Given the description of an element on the screen output the (x, y) to click on. 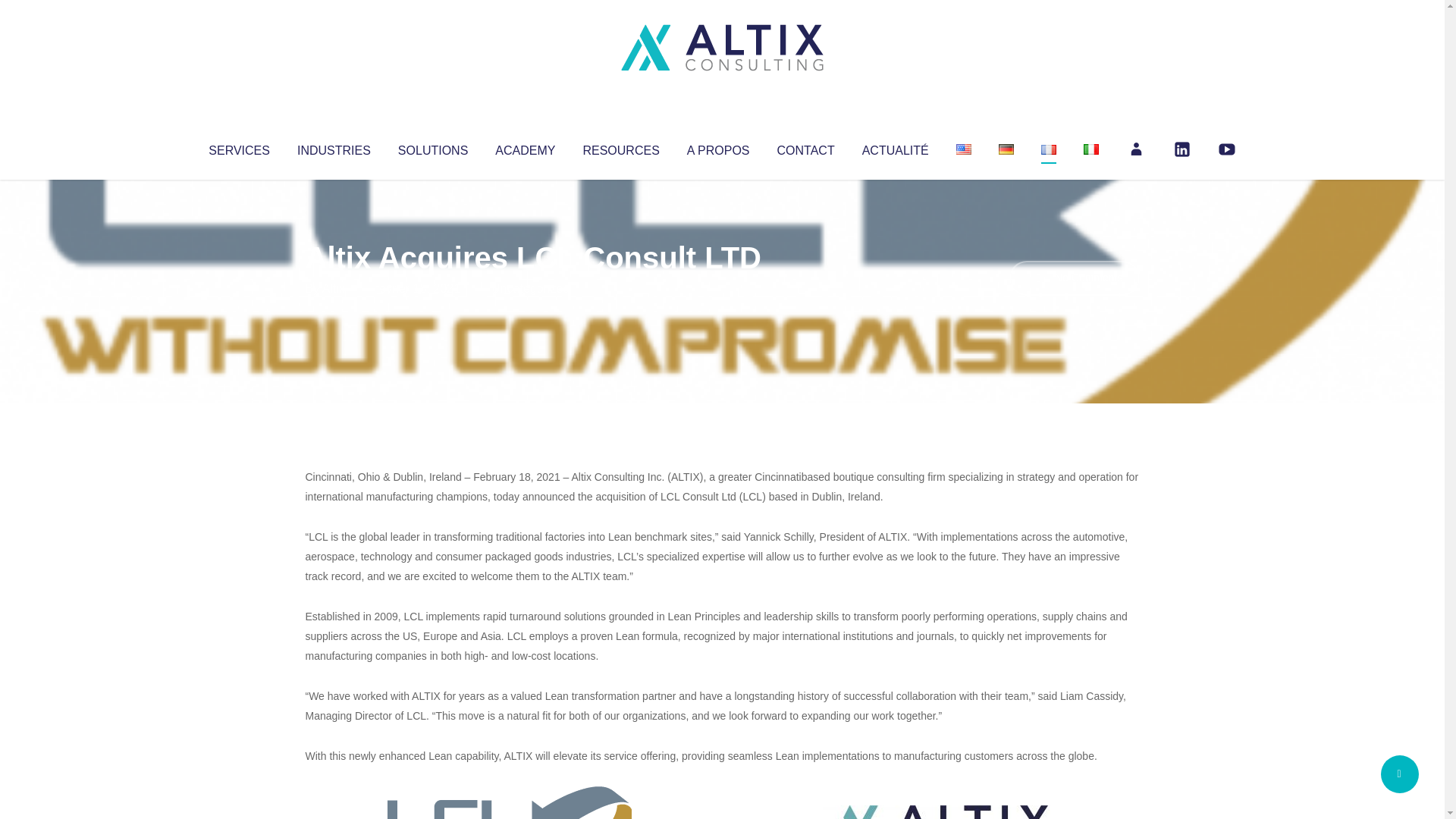
SOLUTIONS (432, 146)
INDUSTRIES (334, 146)
SERVICES (238, 146)
ACADEMY (524, 146)
Uncategorized (530, 287)
Articles par Altix (333, 287)
RESOURCES (620, 146)
No Comments (1073, 278)
A PROPOS (718, 146)
Altix (333, 287)
